Given the description of an element on the screen output the (x, y) to click on. 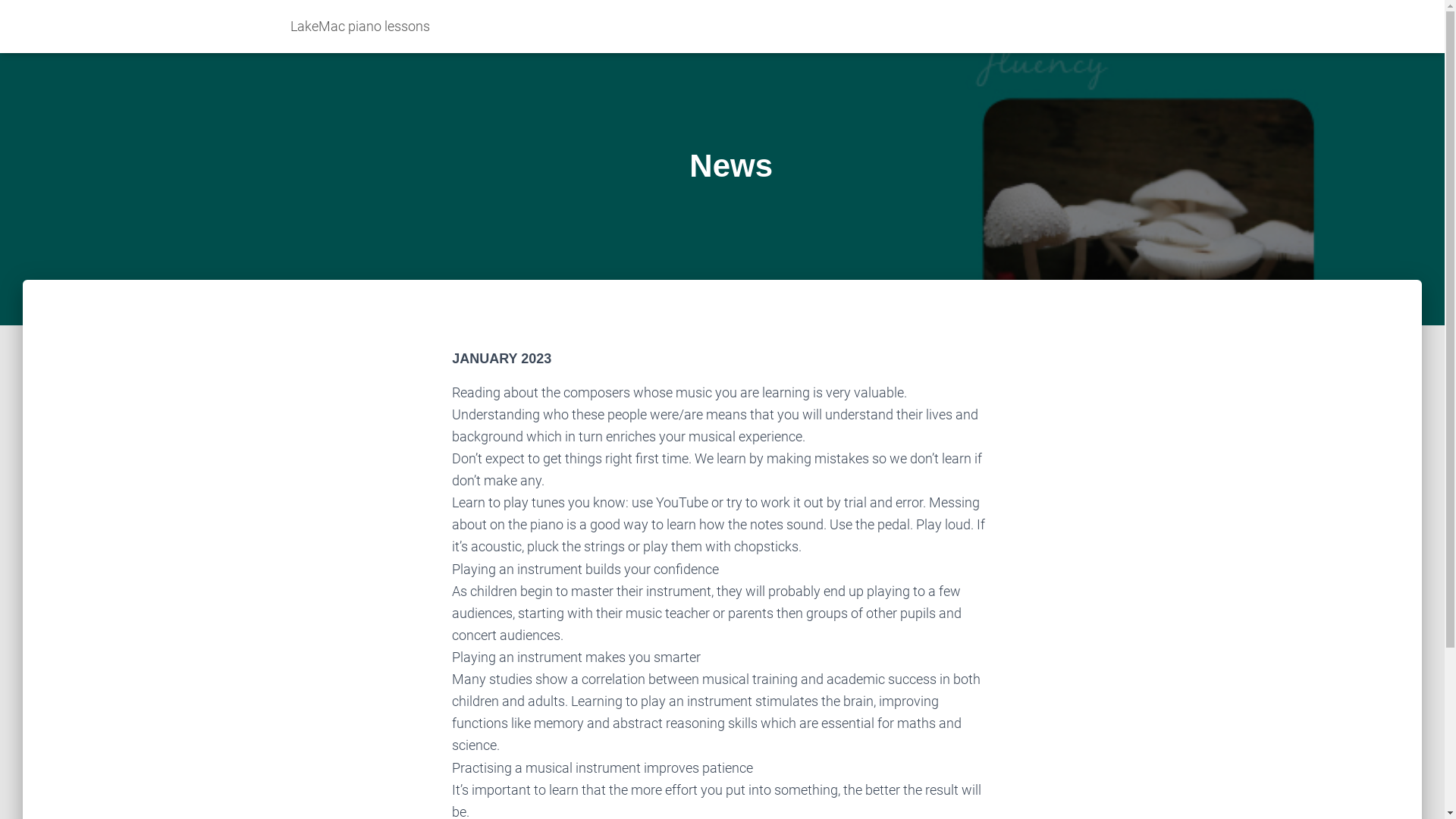
LakeMac piano lessons Element type: text (360, 26)
